Given the description of an element on the screen output the (x, y) to click on. 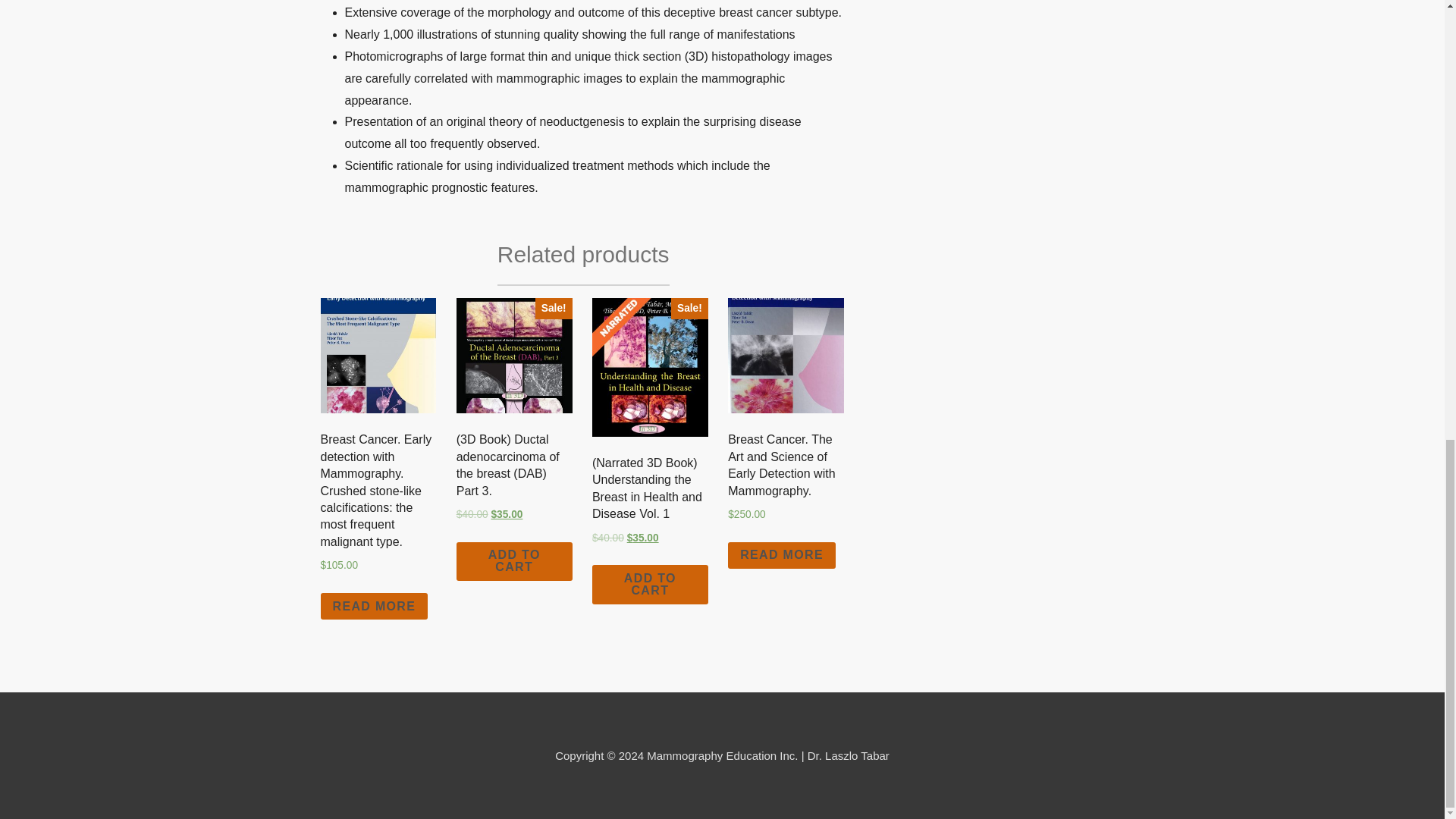
ADD TO CART (649, 584)
ADD TO CART (514, 561)
READ MORE (374, 605)
READ MORE (781, 555)
